Given the description of an element on the screen output the (x, y) to click on. 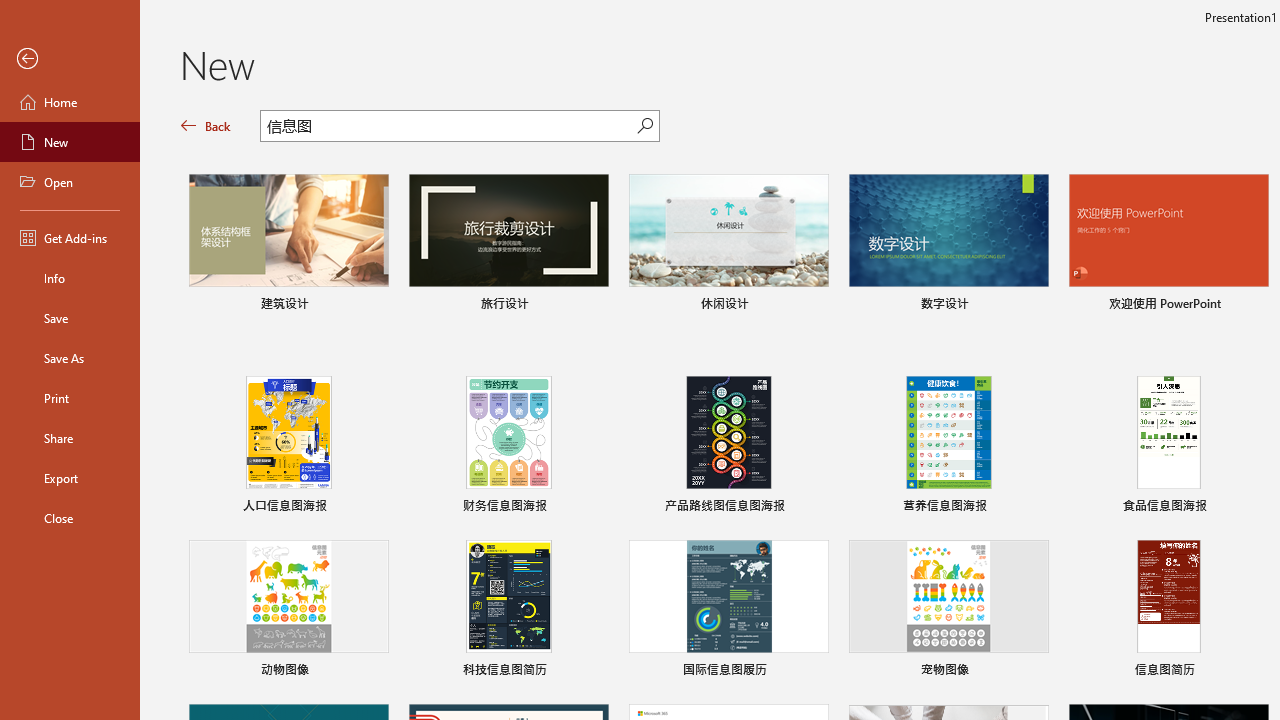
Start searching (645, 125)
Print (69, 398)
Info (69, 277)
Back (205, 125)
Export (69, 477)
Save As (69, 357)
